Given the description of an element on the screen output the (x, y) to click on. 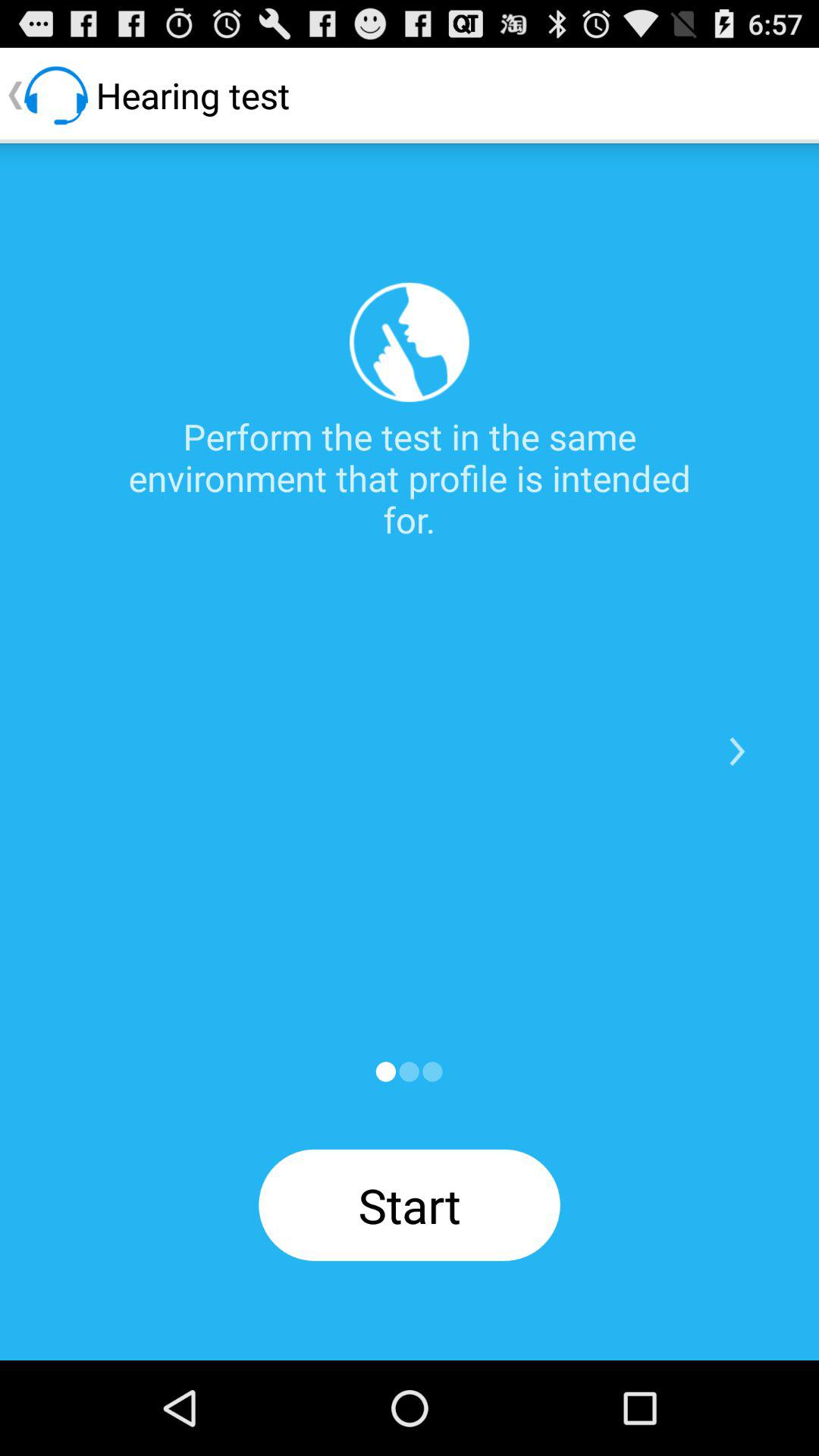
scroll through screens (385, 1071)
